Given the description of an element on the screen output the (x, y) to click on. 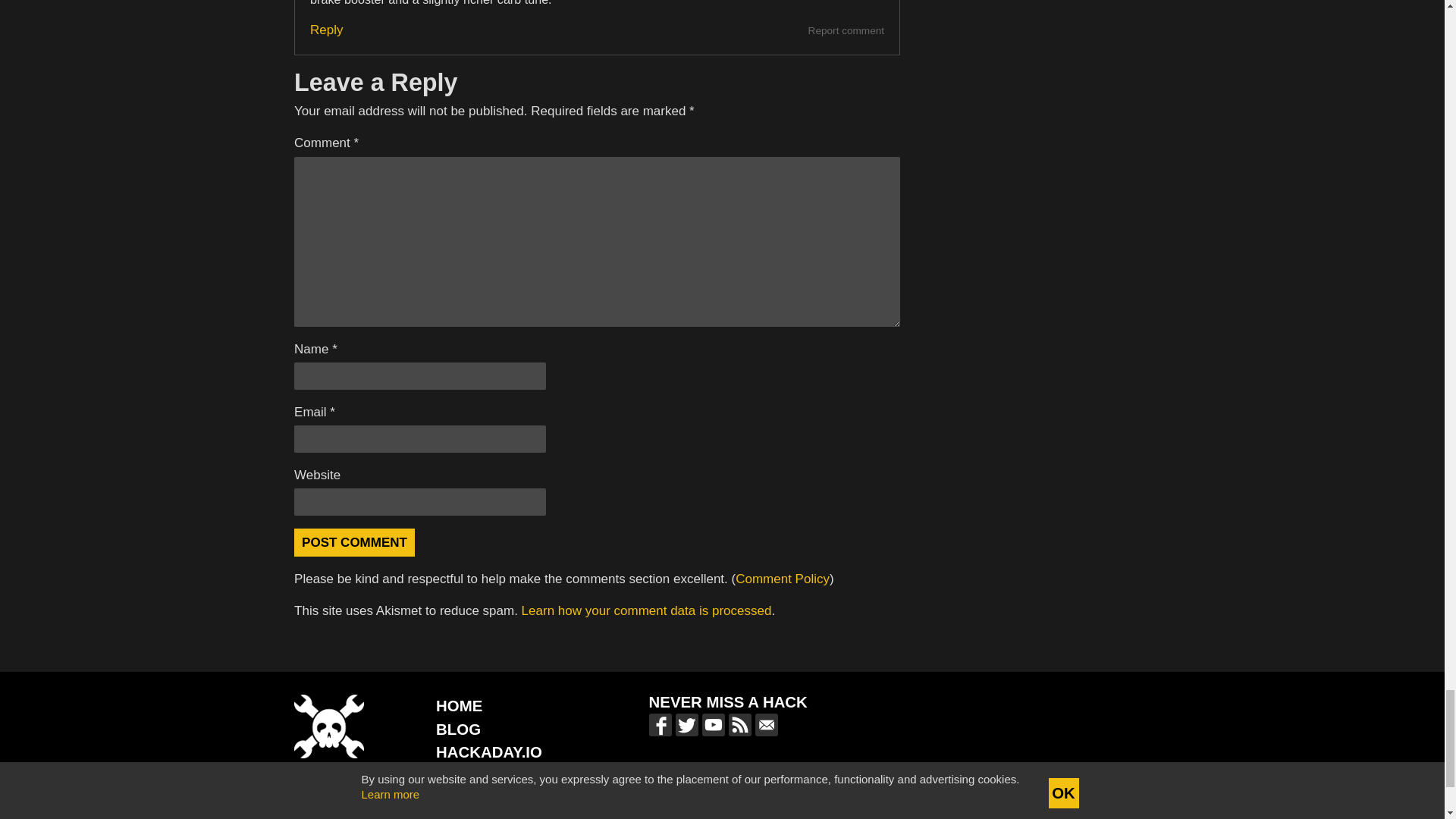
Build Something that Matters (503, 798)
Subscribe (874, 801)
Post Comment (354, 542)
